Given the description of an element on the screen output the (x, y) to click on. 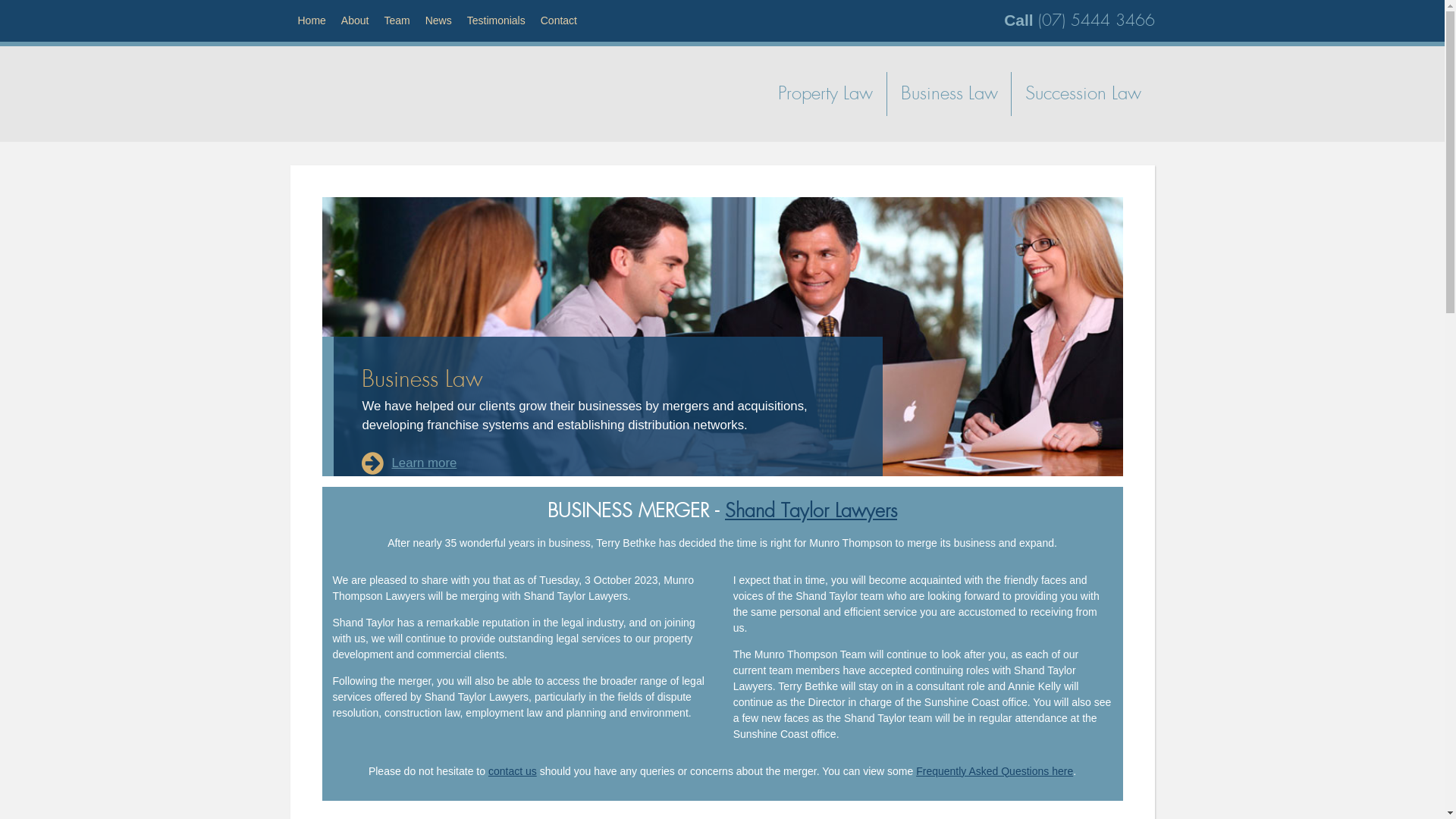
Shand Taylor Lawyers Element type: text (810, 510)
(07) 5444 3466 Element type: text (1095, 20)
About Element type: text (354, 20)
Frequently Asked Questions here Element type: text (994, 771)
Business Law Element type: text (949, 94)
News Element type: text (438, 20)
Team Element type: text (396, 20)
Property Law Element type: text (826, 94)
Succession Law Element type: text (1082, 94)
Home Element type: text (310, 20)
Contact Element type: text (558, 20)
Testimonials Element type: text (496, 20)
Munro Thompson Lawyers Element type: hover (368, 93)
Learn more Element type: text (408, 463)
contact us Element type: text (512, 771)
